Given the description of an element on the screen output the (x, y) to click on. 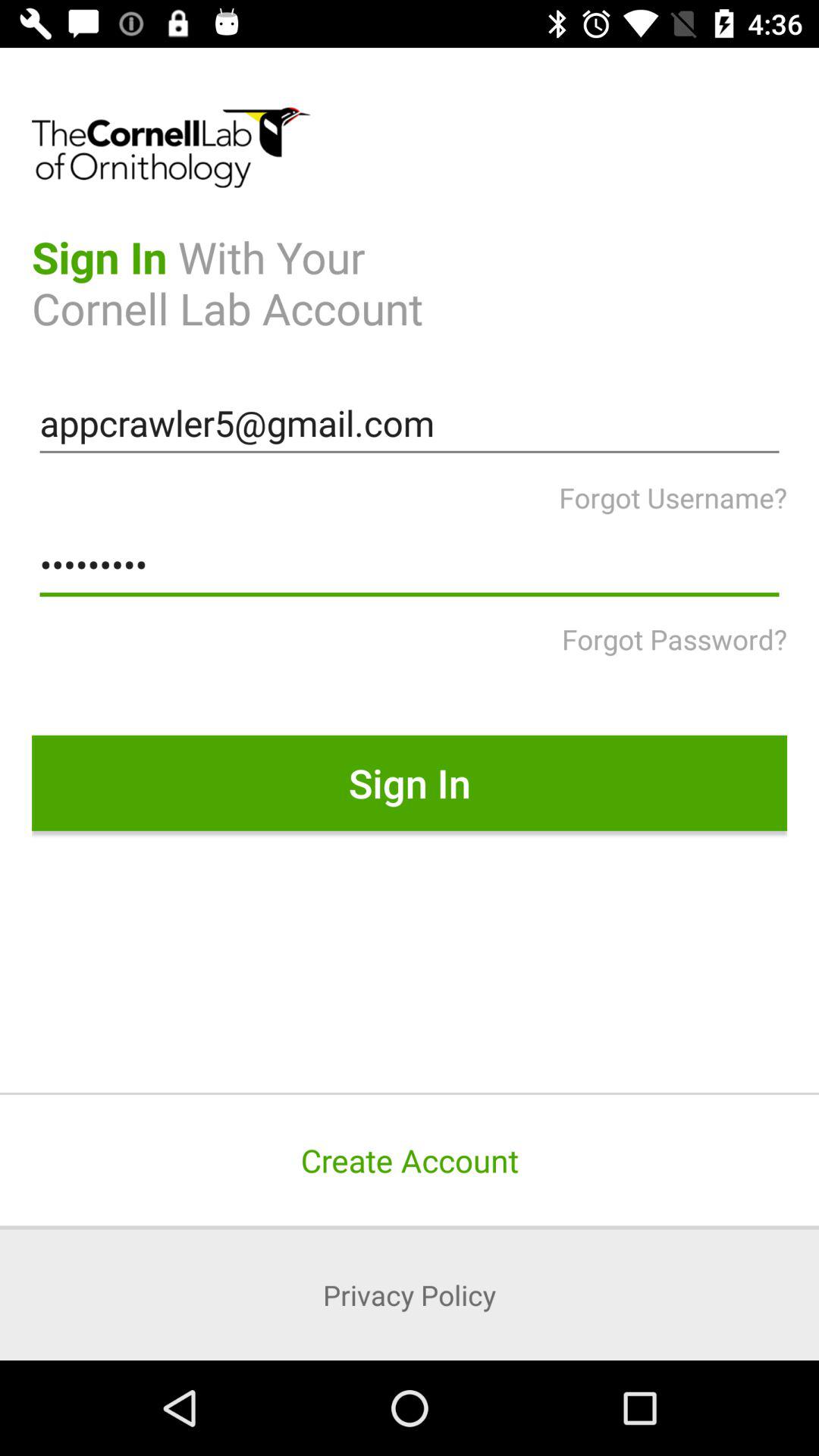
click the item above forgot username? item (409, 423)
